Given the description of an element on the screen output the (x, y) to click on. 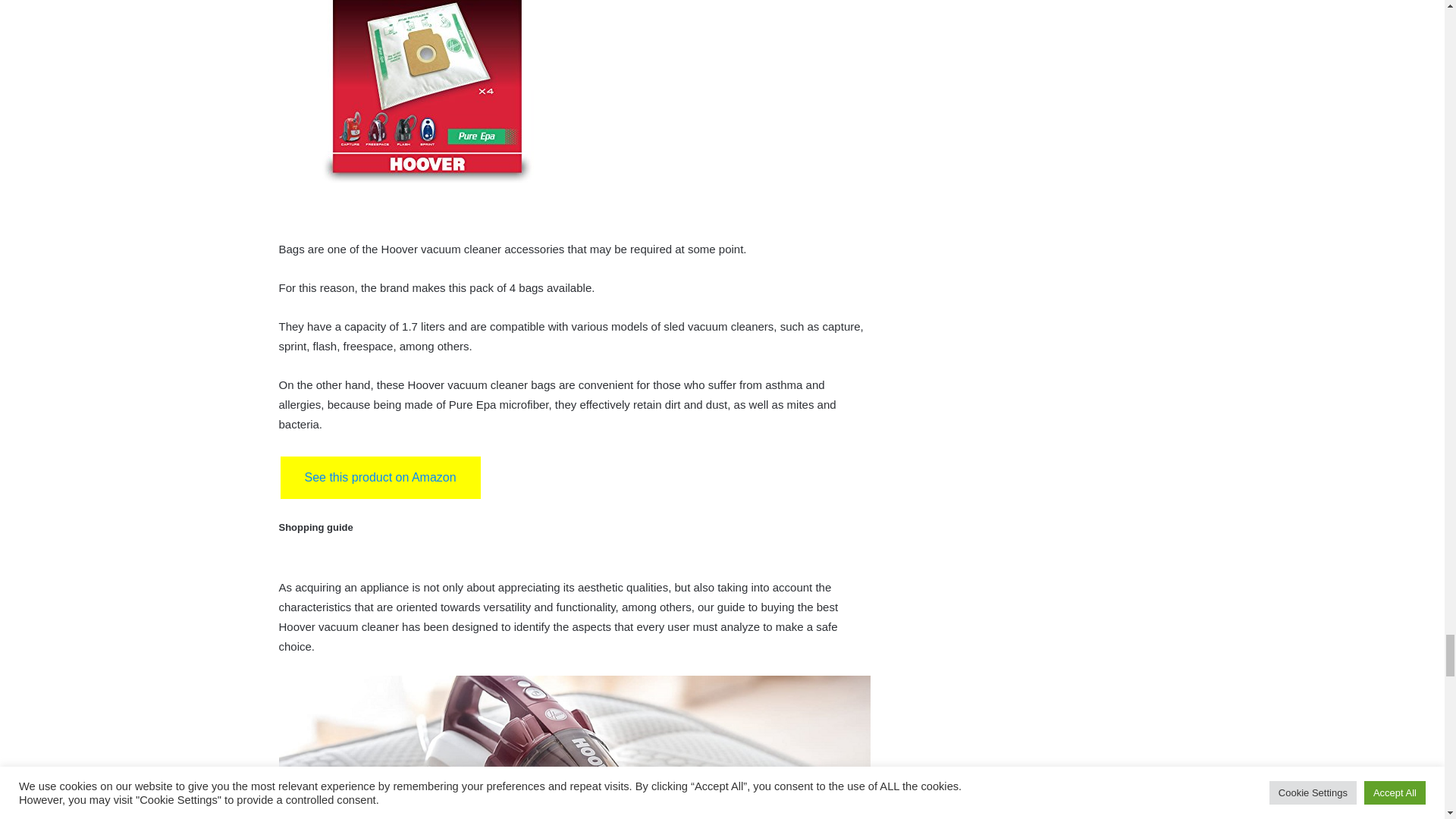
See this product on Amazon (380, 477)
